Given the description of an element on the screen output the (x, y) to click on. 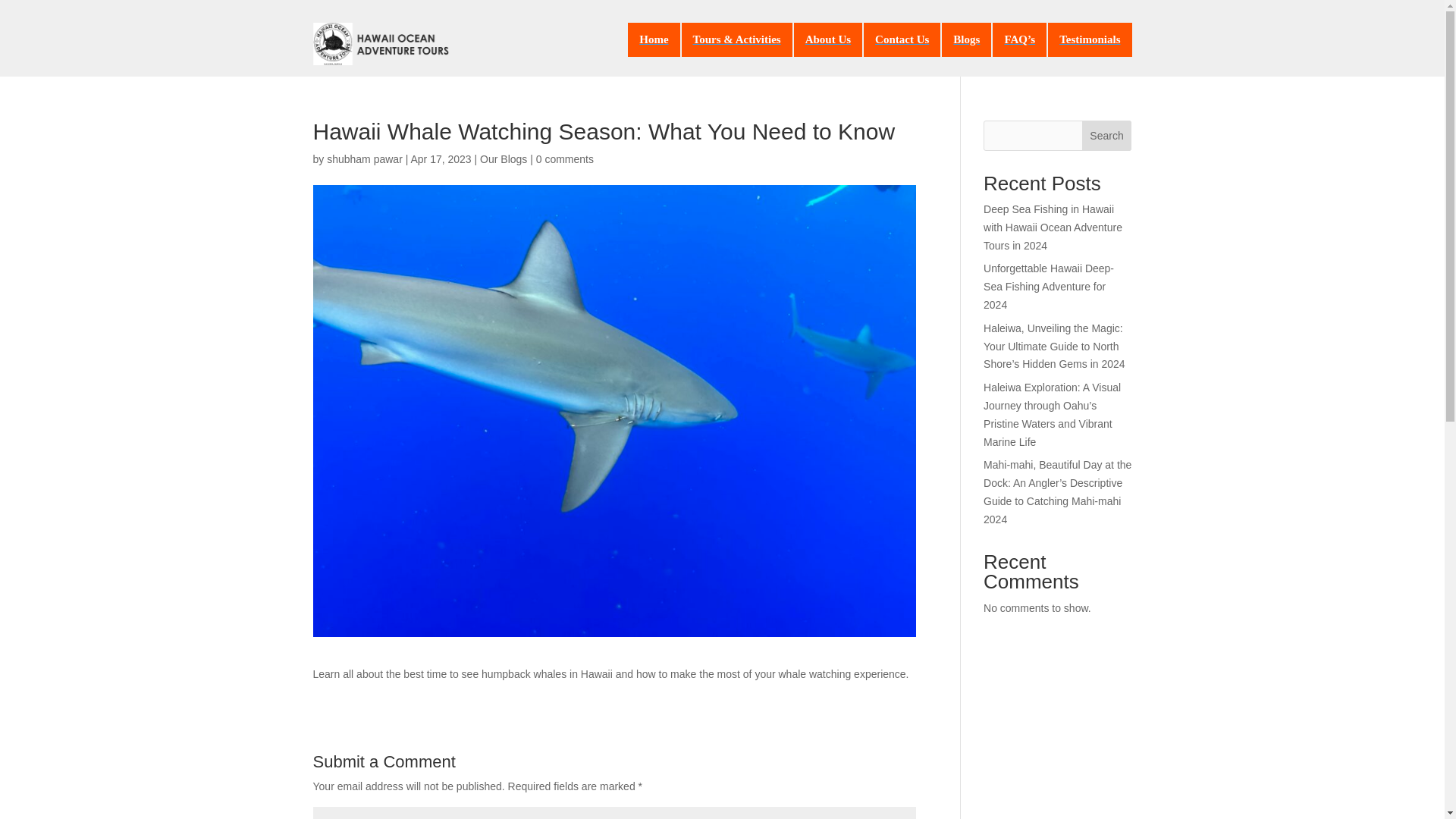
Unforgettable Hawaii Deep-Sea Fishing Adventure for 2024 (1048, 286)
shubham pawar (364, 159)
Home (653, 39)
Testimonials (1089, 39)
Blogs (966, 39)
Our Blogs (503, 159)
Posts by shubham pawar (364, 159)
Search (1106, 135)
Contact Us (901, 39)
About Us (827, 39)
0 comments (564, 159)
